Given the description of an element on the screen output the (x, y) to click on. 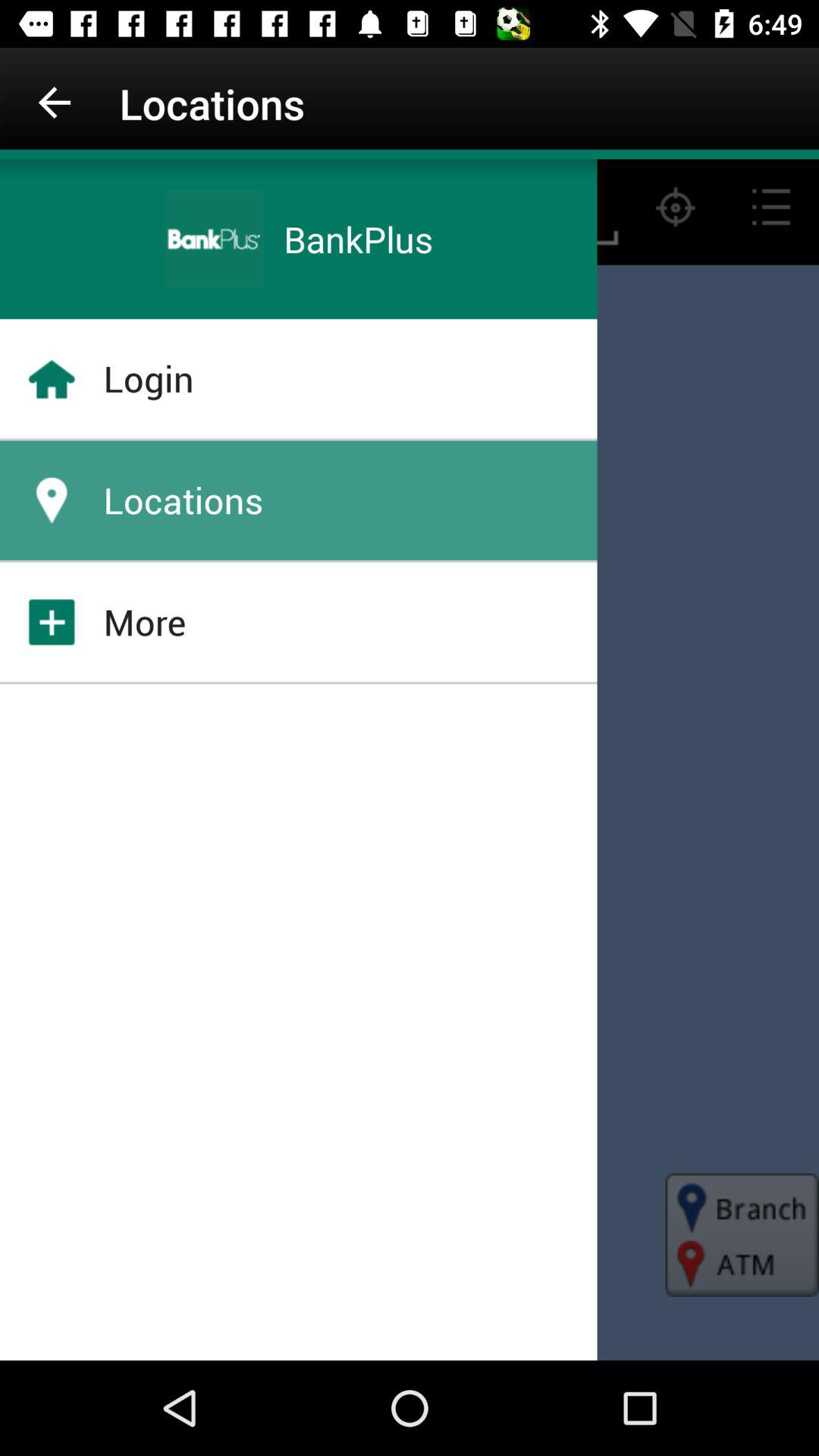
click on location icon (51, 500)
